Given the description of an element on the screen output the (x, y) to click on. 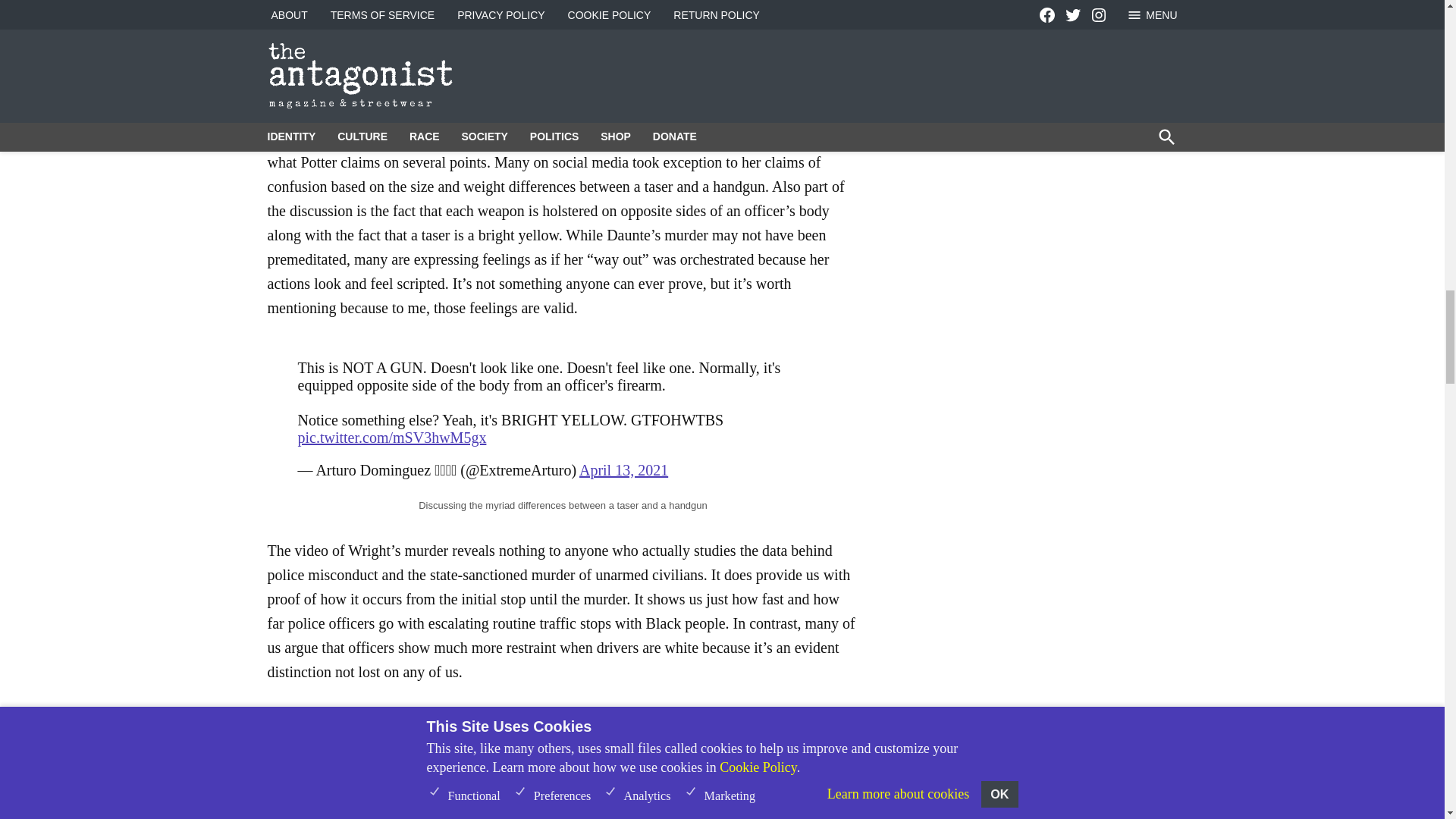
April 13, 2021 (623, 469)
Ohio police department share video of tense traffic stop (562, 763)
sinister is happening (683, 28)
